Given the description of an element on the screen output the (x, y) to click on. 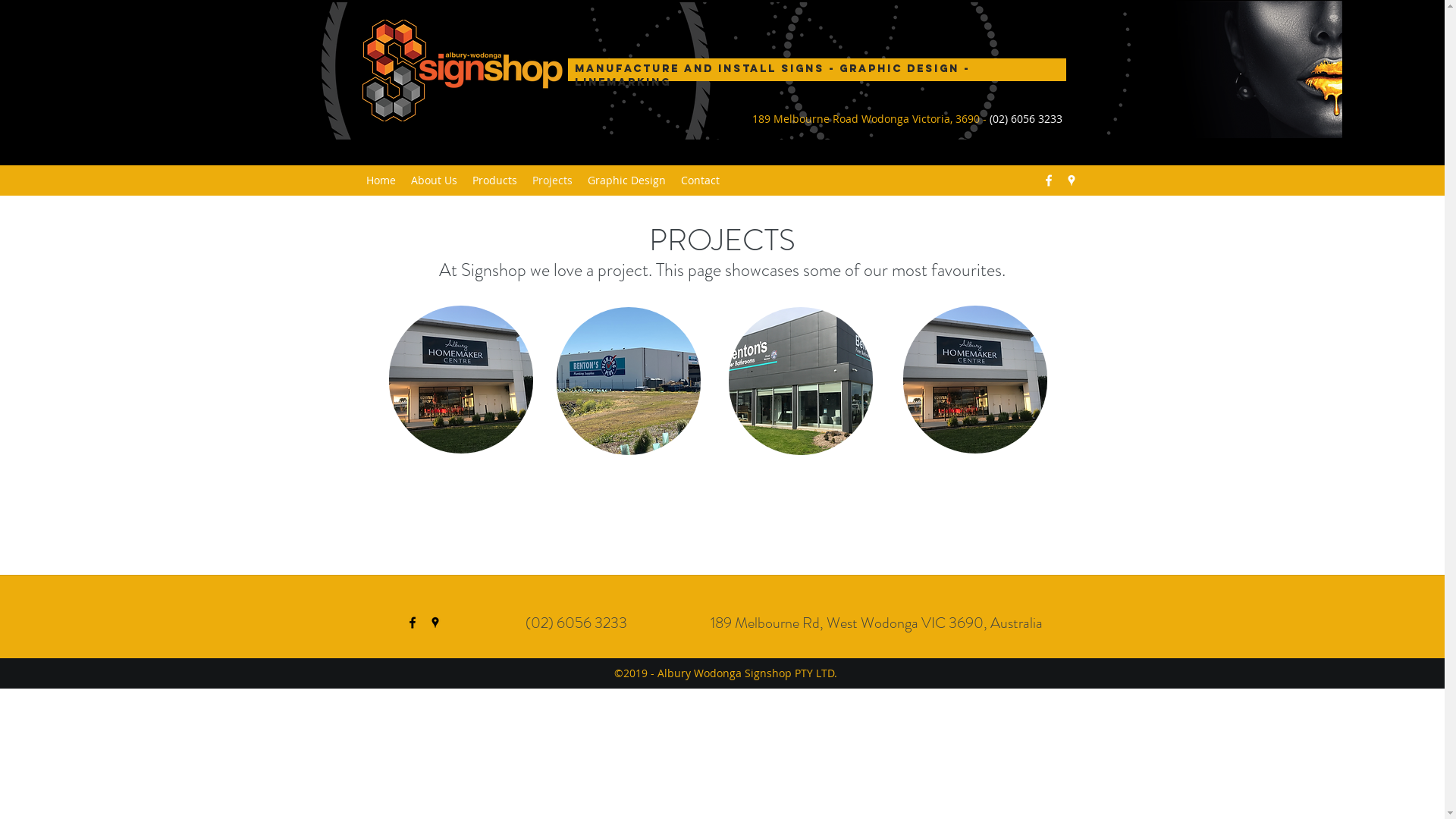
Graphic Design Element type: text (625, 180)
Projects Element type: text (552, 180)
Products Element type: text (494, 180)
Home Element type: text (379, 180)
Contact Element type: text (700, 180)
About Us Element type: text (433, 180)
